Given the description of an element on the screen output the (x, y) to click on. 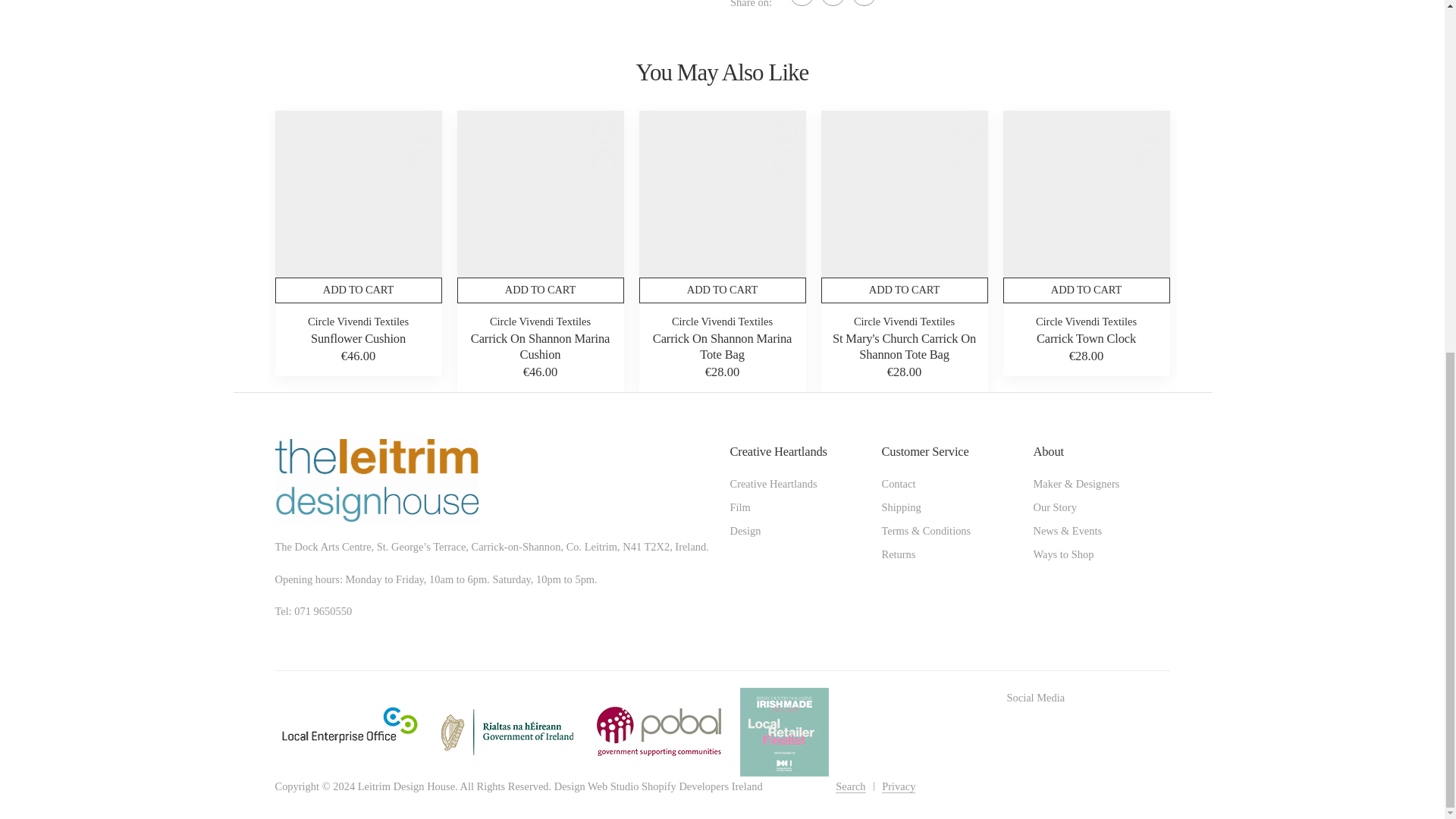
Carrick On Shannon Marina Cushion (540, 193)
Carrick Town Clock (1086, 193)
Sunflower Cushion (358, 193)
Carrick On Shannon Marina Tote Bag (722, 193)
St Mary's Church Carrick On Shannon Tote Bag (904, 193)
